Given the description of an element on the screen output the (x, y) to click on. 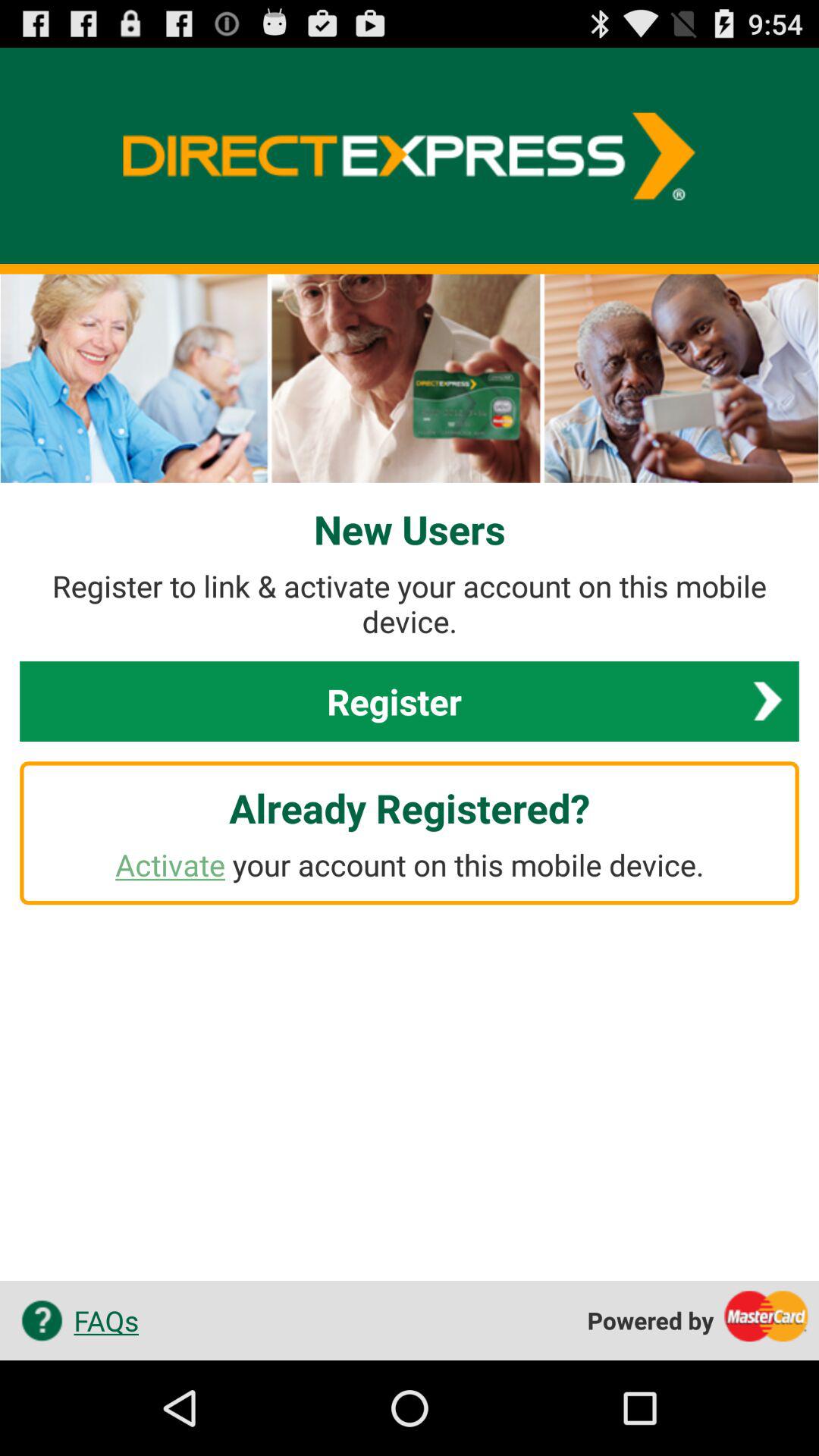
launch the faqs item (74, 1320)
